Given the description of an element on the screen output the (x, y) to click on. 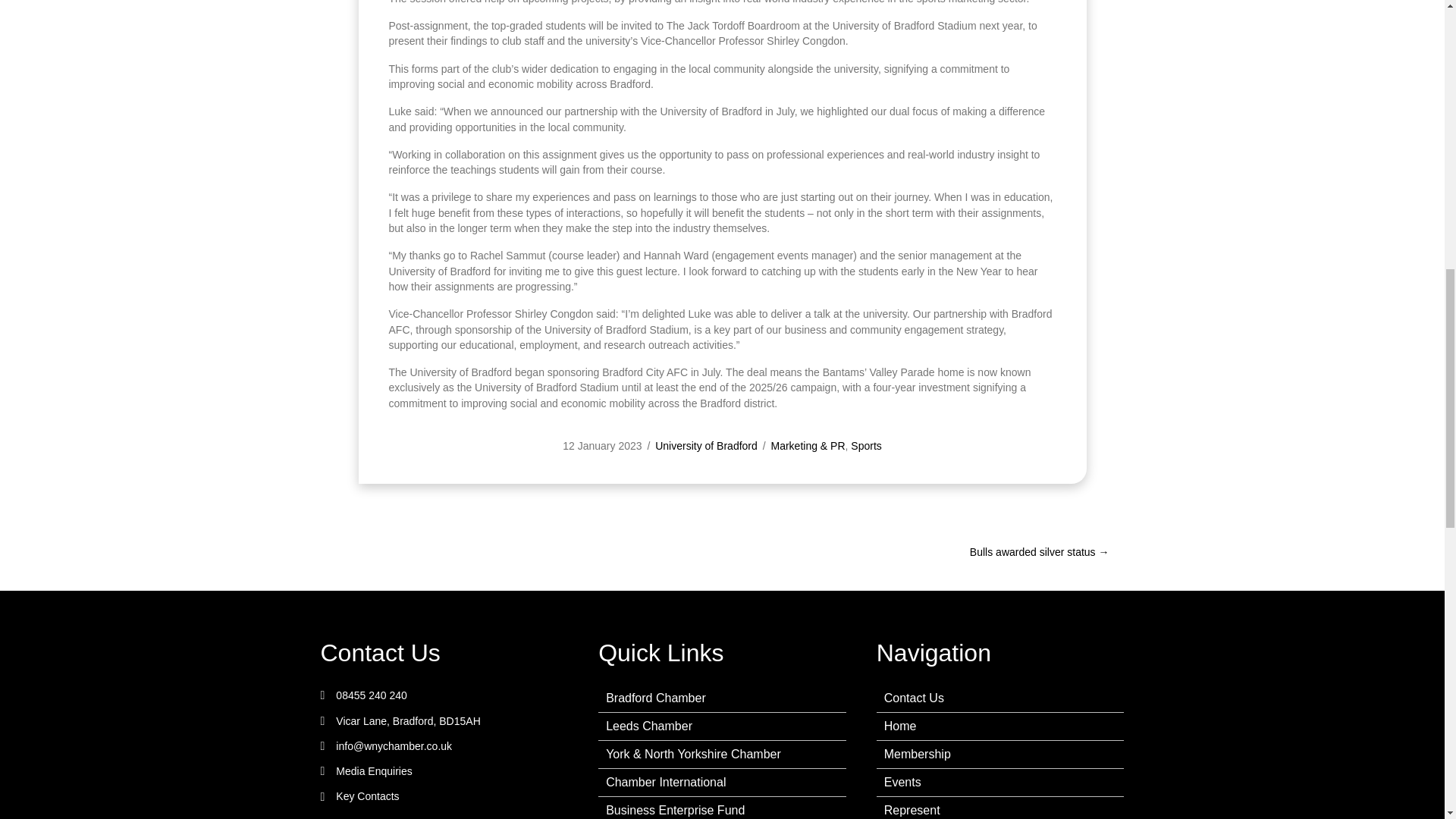
University of Bradford (706, 445)
Sports (865, 445)
Contact Us (379, 654)
Media Enquiries (374, 770)
08455 240 240 (371, 695)
Contact Us (379, 654)
